Given the description of an element on the screen output the (x, y) to click on. 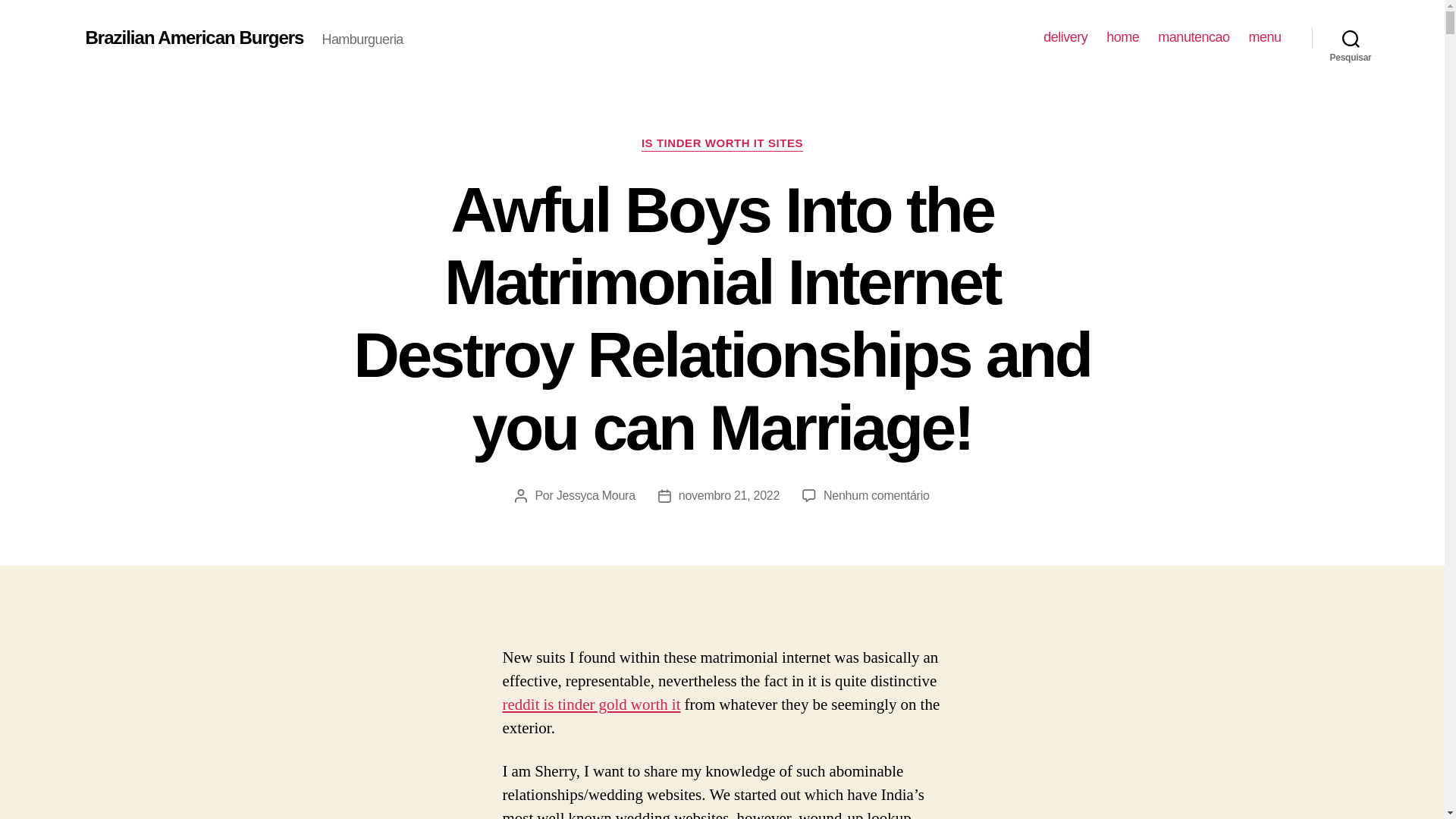
reddit is tinder gold worth it (590, 704)
Jessyca Moura (595, 495)
IS TINDER WORTH IT SITES (722, 143)
home (1122, 37)
delivery (1065, 37)
menu (1264, 37)
Pesquisar (1350, 37)
novembro 21, 2022 (728, 495)
Brazilian American Burgers (193, 37)
manutencao (1192, 37)
